Given the description of an element on the screen output the (x, y) to click on. 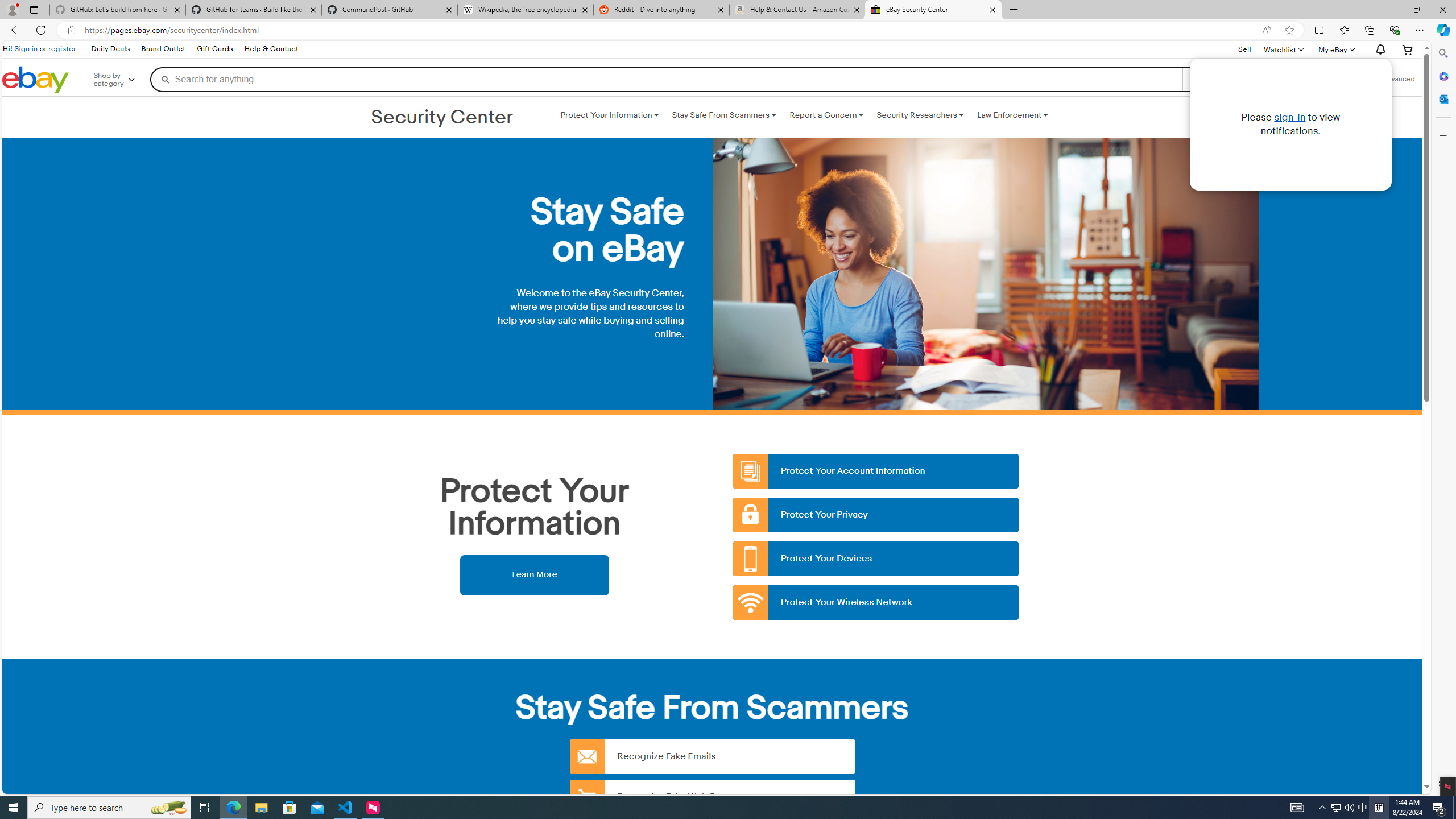
Security Researchers  (919, 115)
Sell (1244, 49)
Gift Cards (214, 49)
Reddit - Dive into anything (660, 9)
